Given the description of an element on the screen output the (x, y) to click on. 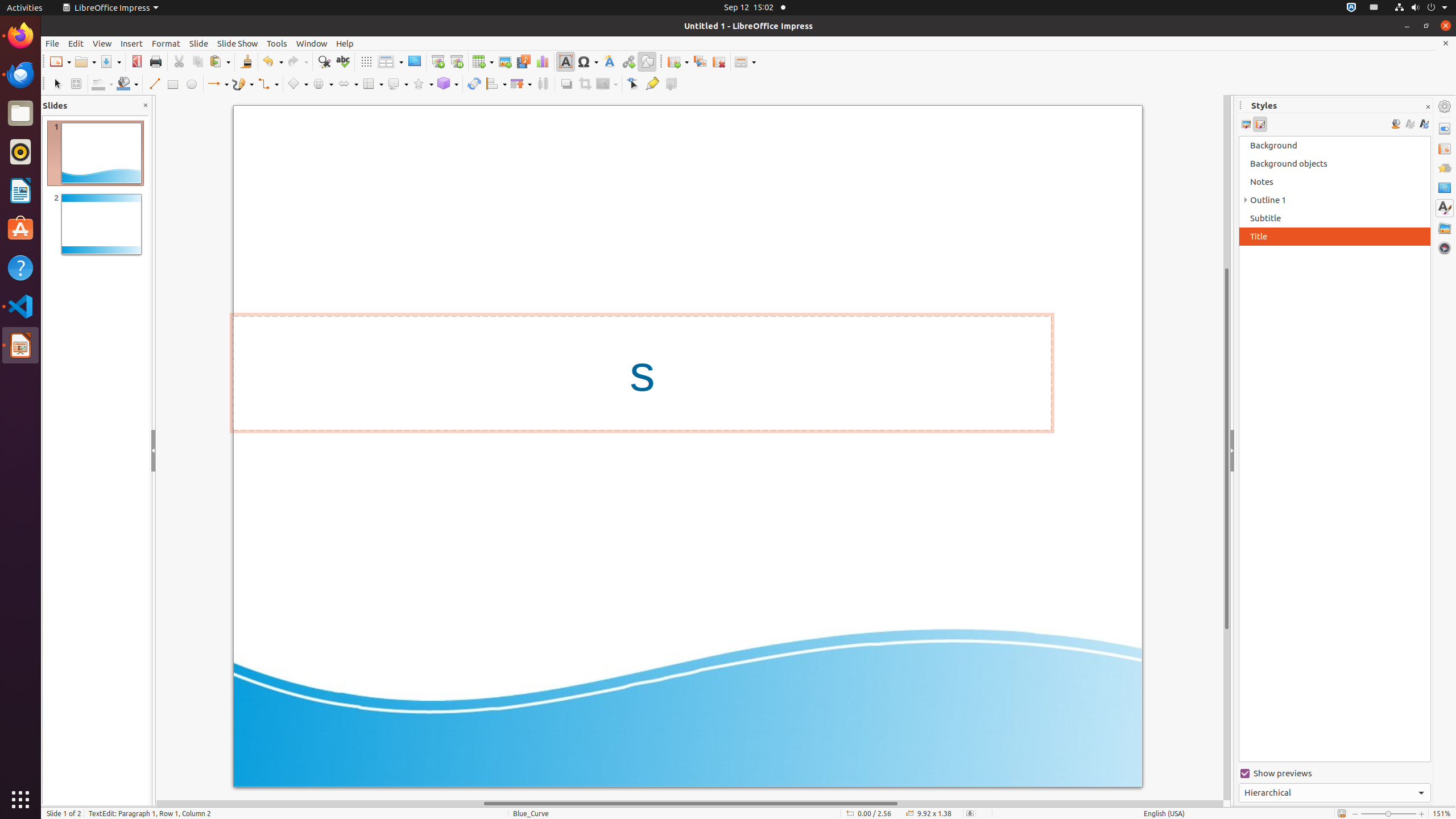
3D Objects Element type: push-button (447, 83)
Delete Slide Element type: push-button (718, 61)
LibreOffice Impress Element type: menu (109, 7)
Insert Element type: menu (131, 43)
Grid Element type: toggle-button (365, 61)
